Given the description of an element on the screen output the (x, y) to click on. 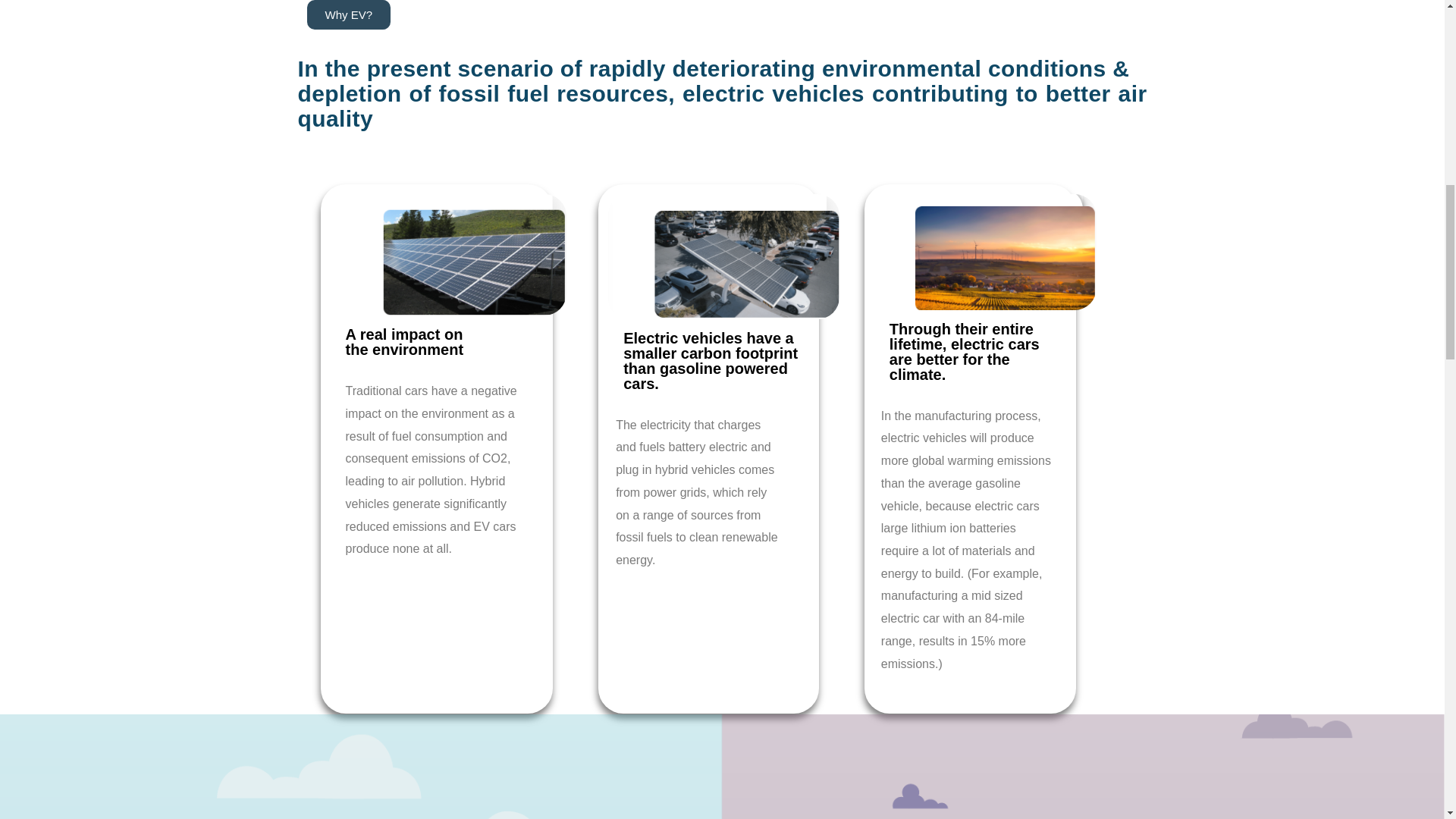
Why EV? (347, 14)
